Given the description of an element on the screen output the (x, y) to click on. 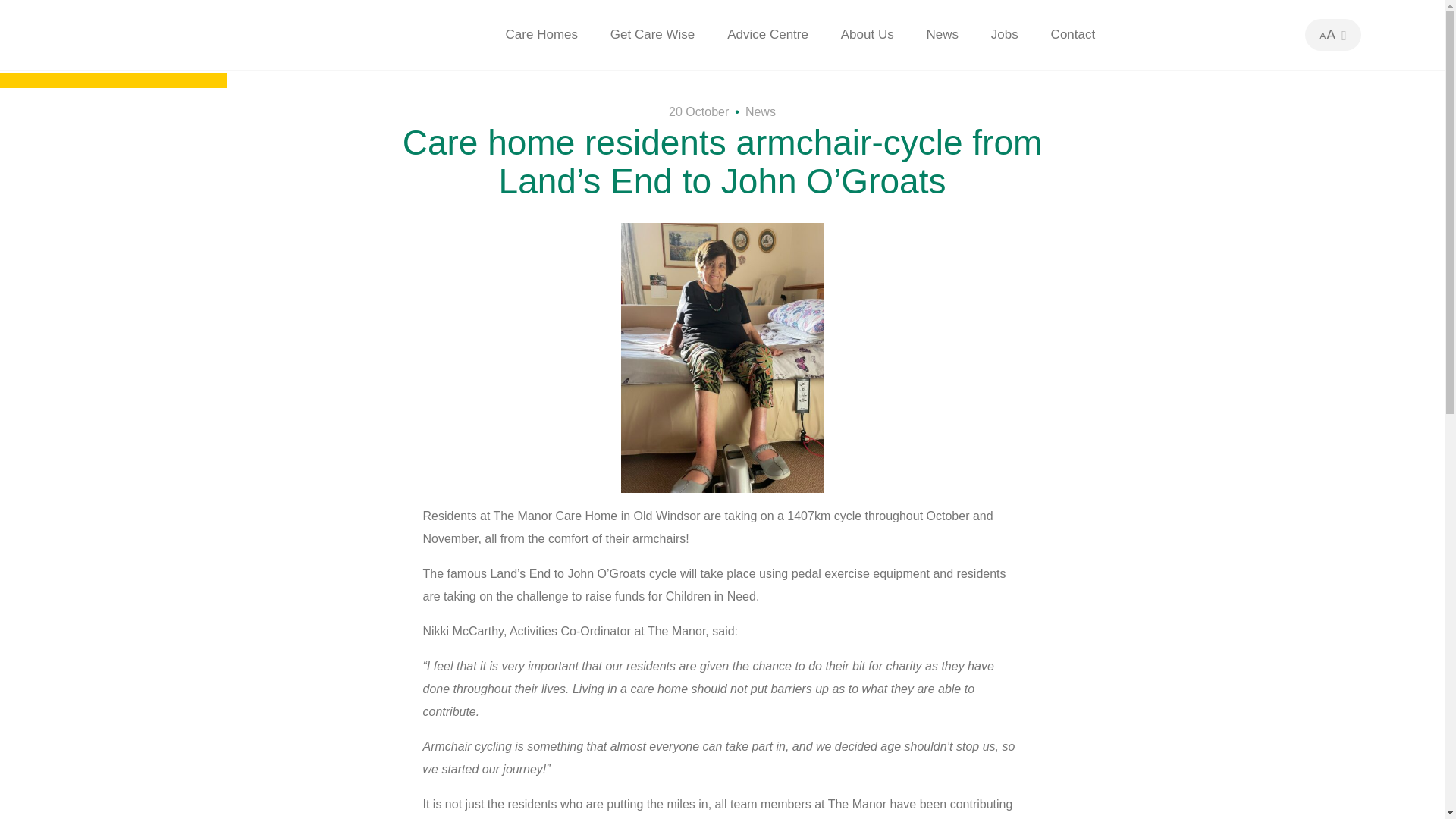
Contact (1073, 34)
Care Homes (541, 34)
Change font size (1327, 34)
Get Care Wise (652, 34)
Advice Centre (767, 34)
About Us (867, 34)
News (760, 111)
